Given the description of an element on the screen output the (x, y) to click on. 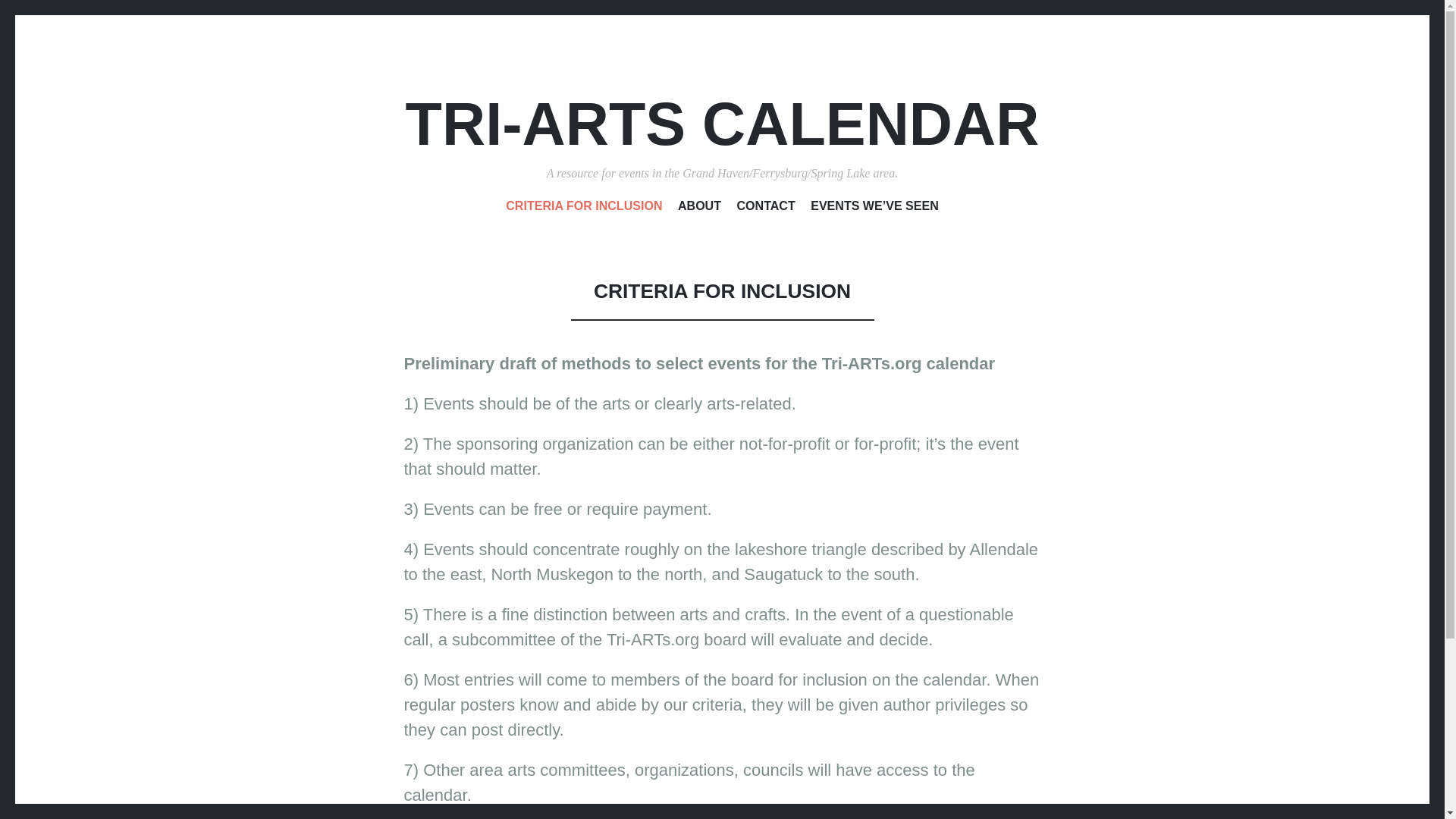
ABOUT (699, 208)
CRITERIA FOR INCLUSION (583, 208)
CONTACT (765, 208)
TRI-ARTS CALENDAR (722, 123)
